Given the description of an element on the screen output the (x, y) to click on. 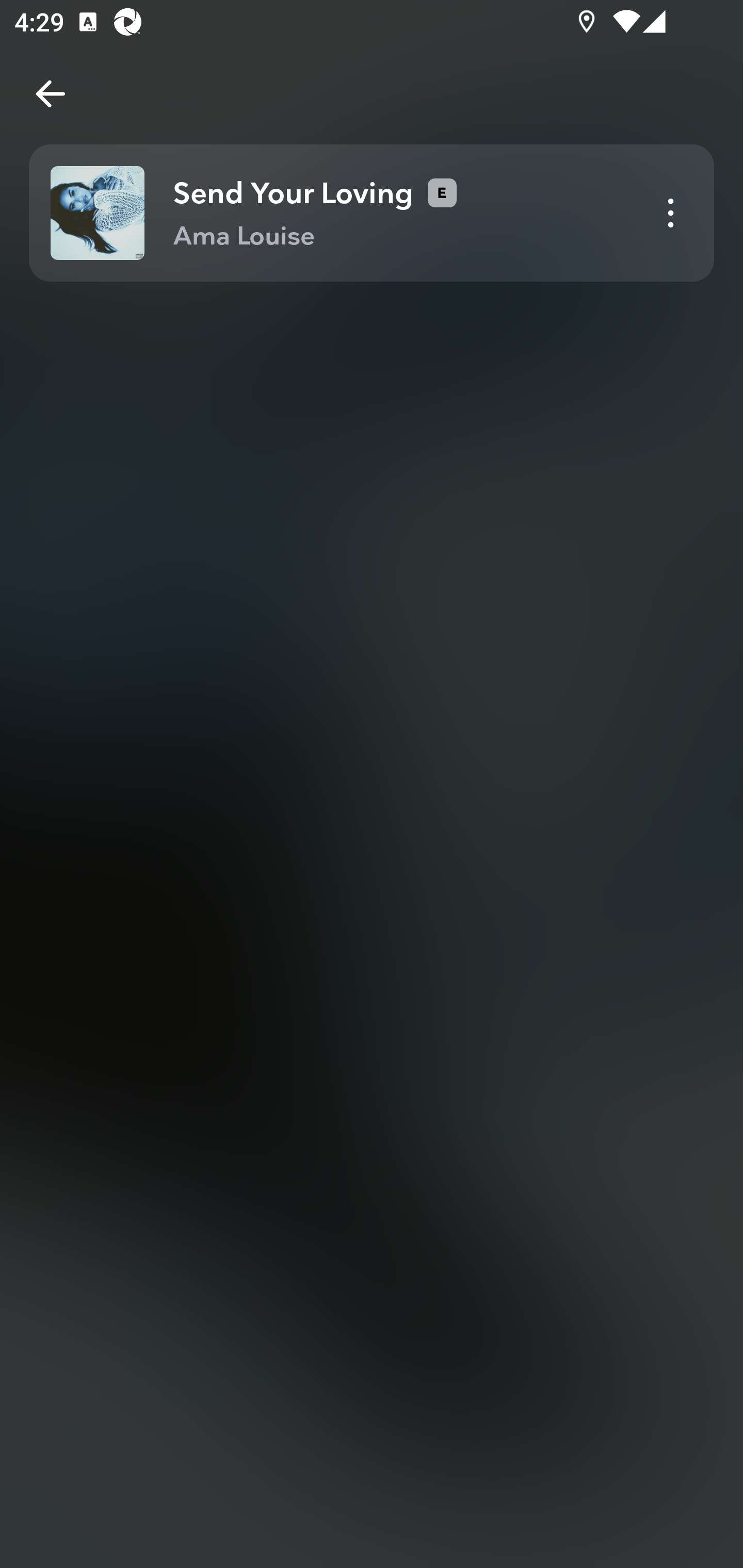
Send Your Loving Ama Louise (371, 213)
